Given the description of an element on the screen output the (x, y) to click on. 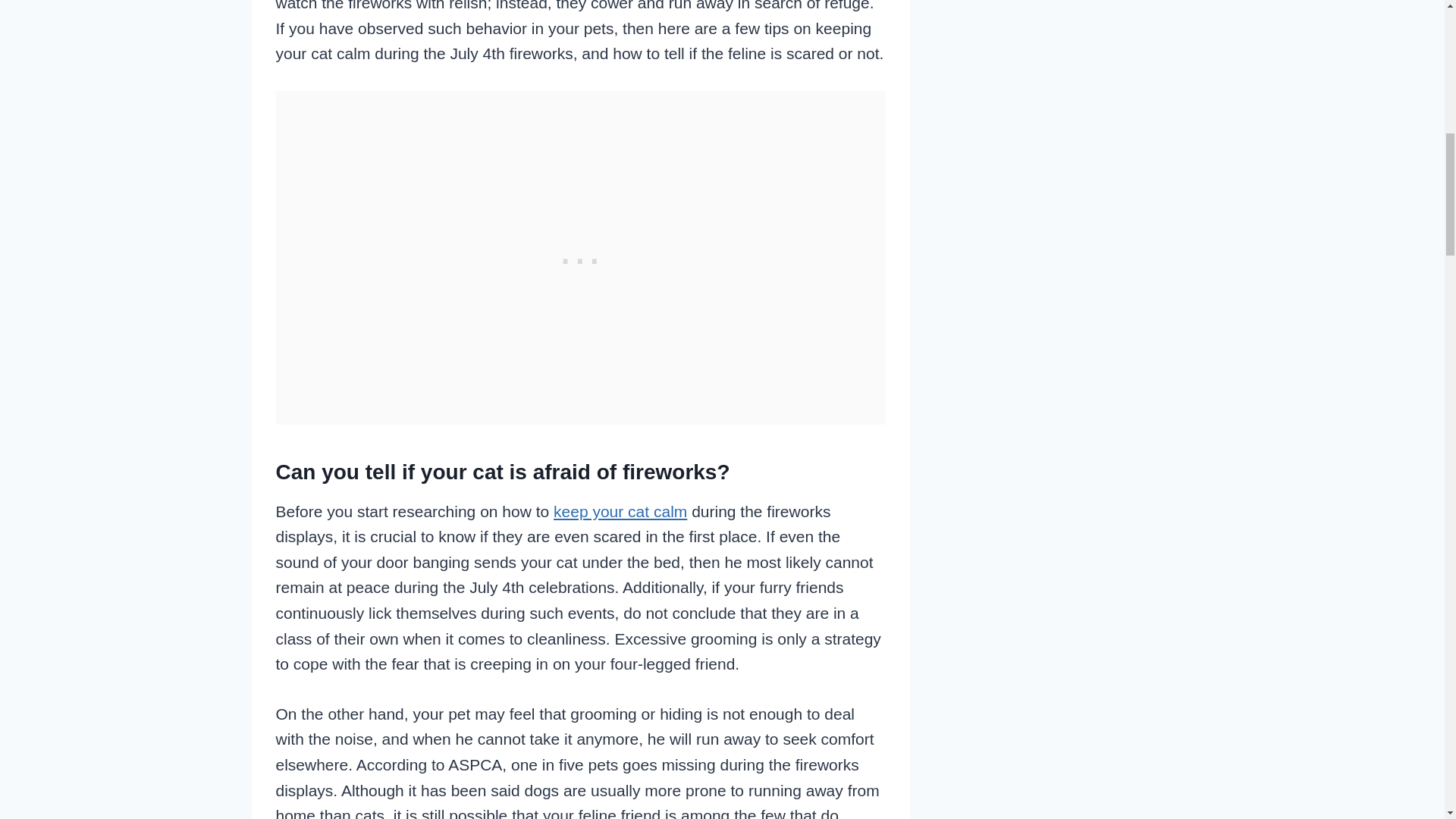
keep your cat calm (620, 511)
